Given the description of an element on the screen output the (x, y) to click on. 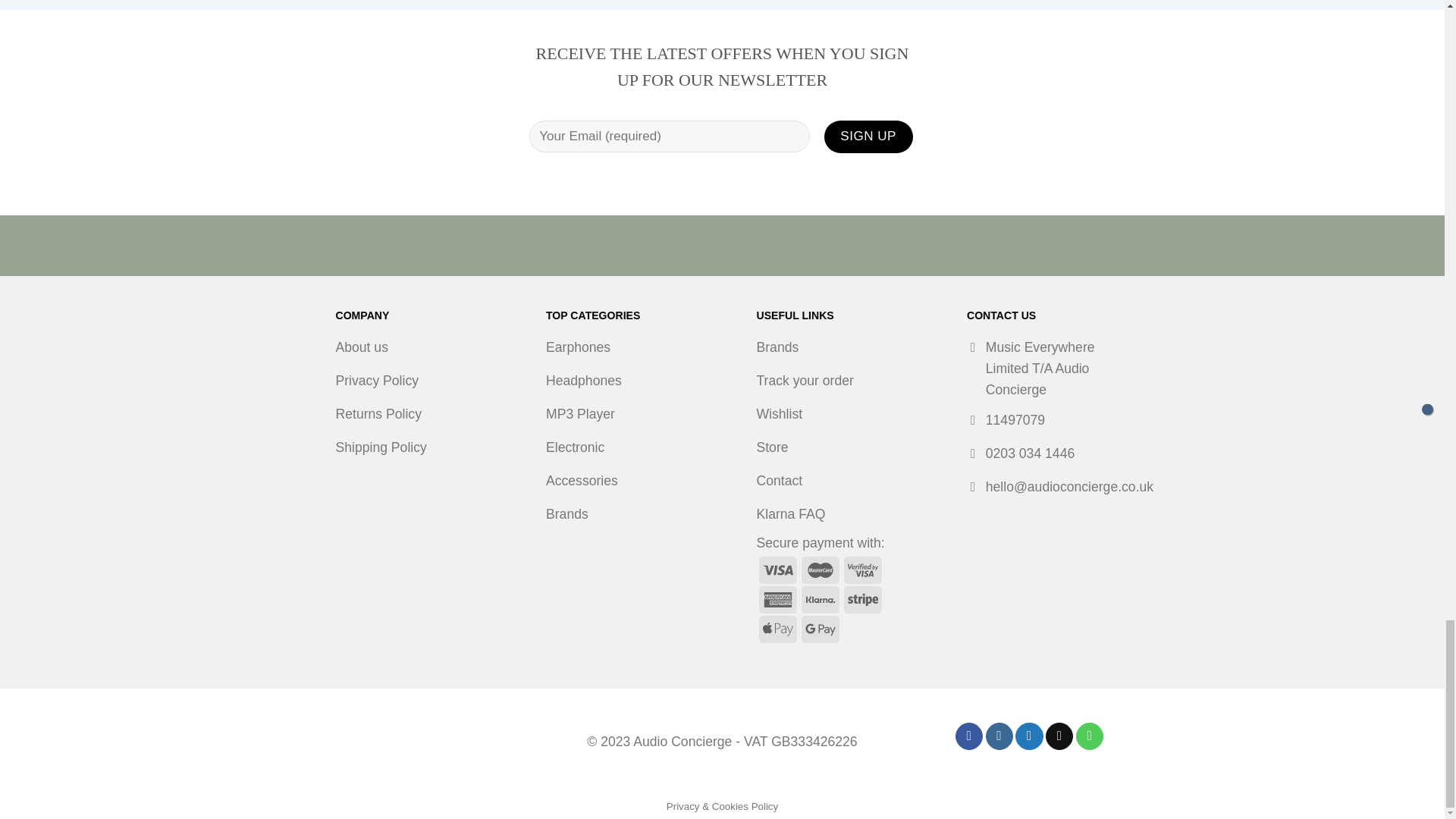
Sign Up (868, 136)
